Given the description of an element on the screen output the (x, y) to click on. 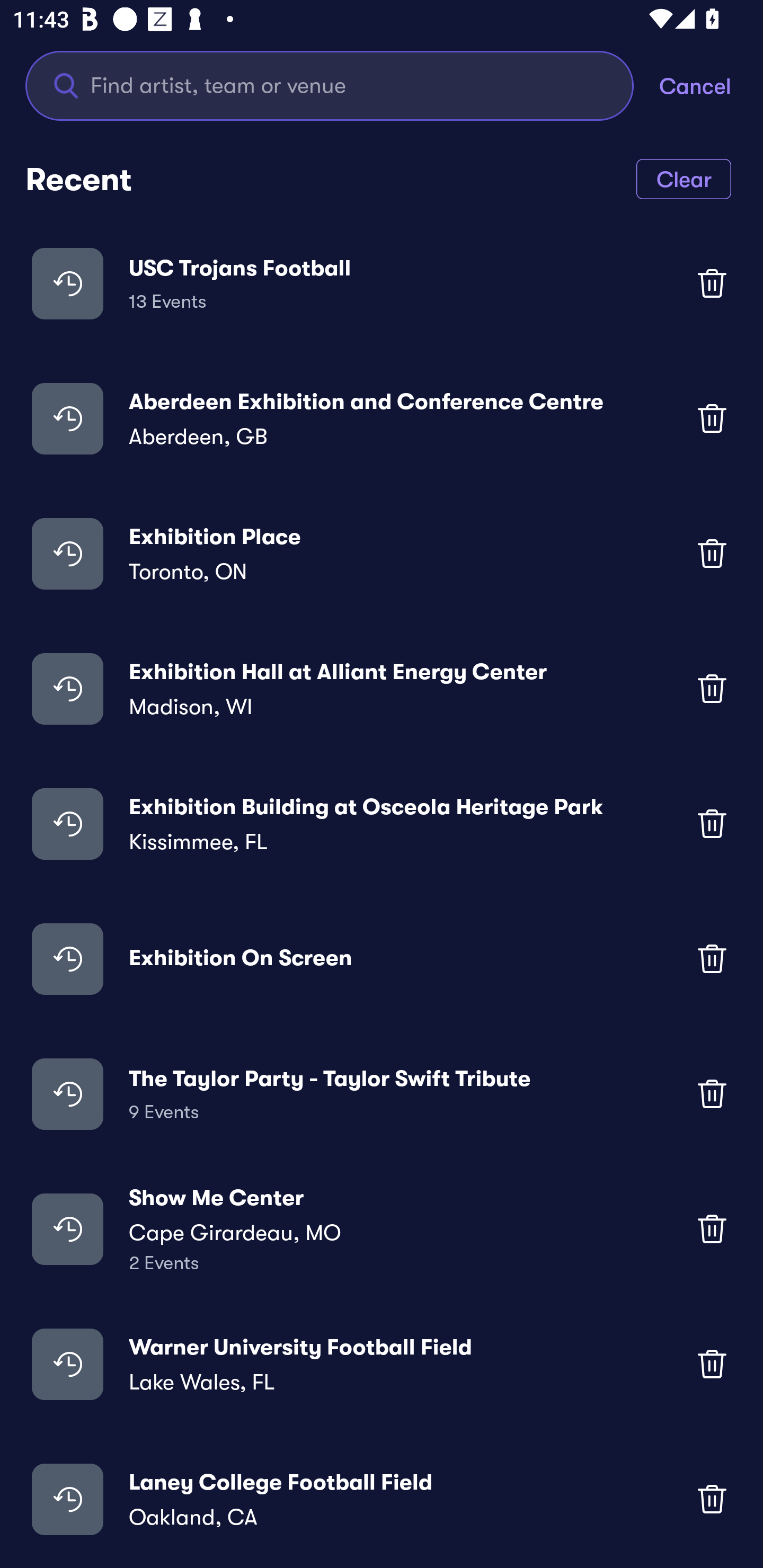
Cancel (711, 85)
Find artist, team or venue Find (329, 85)
Find artist, team or venue Find (341, 85)
Clear (683, 178)
USC Trojans Football 13 Events (381, 282)
Exhibition Place Toronto, ON (381, 553)
Exhibition On Screen (381, 958)
The Taylor Party - Taylor Swift Tribute 9 Events (381, 1093)
Show Me Center Cape Girardeau, MO 2 Events (381, 1228)
Warner University Football Field Lake Wales, FL (381, 1364)
Laney College Football Field Oakland, CA (381, 1498)
